Given the description of an element on the screen output the (x, y) to click on. 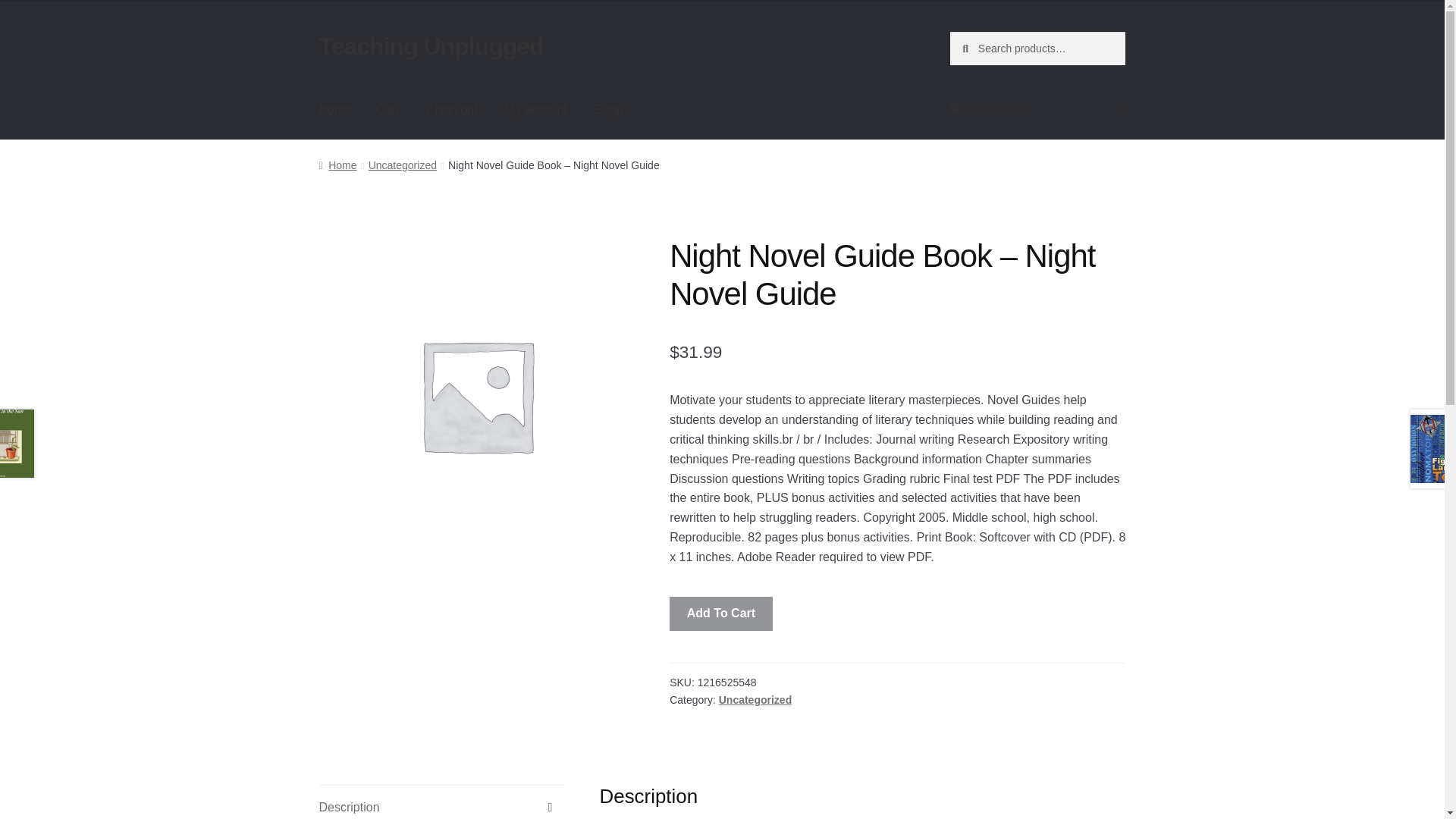
Description (441, 802)
My account (536, 109)
Shop (608, 109)
Checkout (451, 109)
Uncategorized (402, 164)
Home (335, 109)
View your shopping cart (1037, 109)
Add To Cart (721, 614)
Teaching Unplugged (430, 45)
Uncategorized (755, 699)
Home (337, 164)
Cart (386, 109)
